Given the description of an element on the screen output the (x, y) to click on. 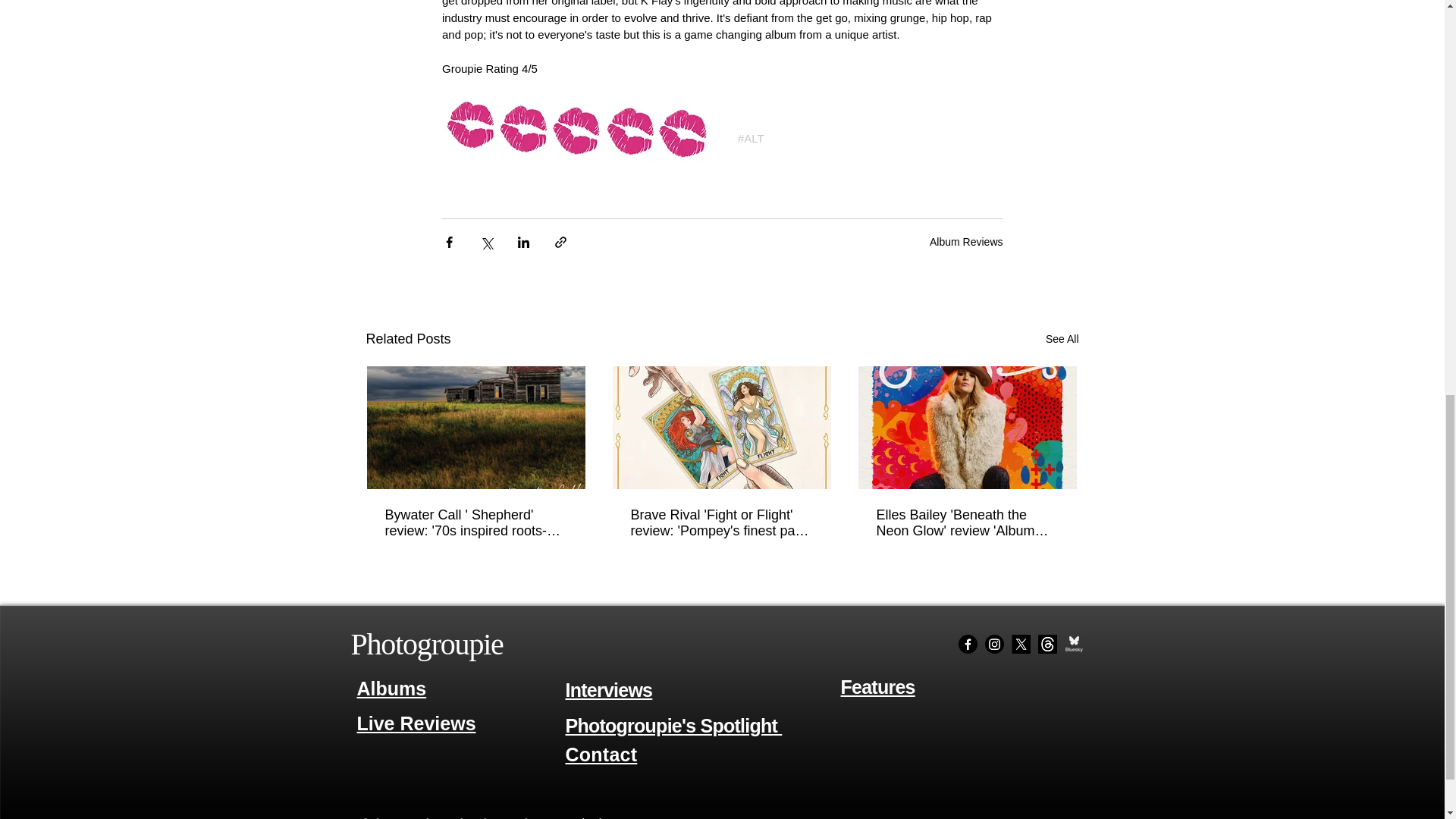
Album Reviews (966, 241)
See All (1061, 339)
Photogroupie's Spotlight  (674, 725)
Live Reviews (416, 723)
Contact (601, 754)
Interviews (609, 690)
Photogroupie (426, 643)
